Given the description of an element on the screen output the (x, y) to click on. 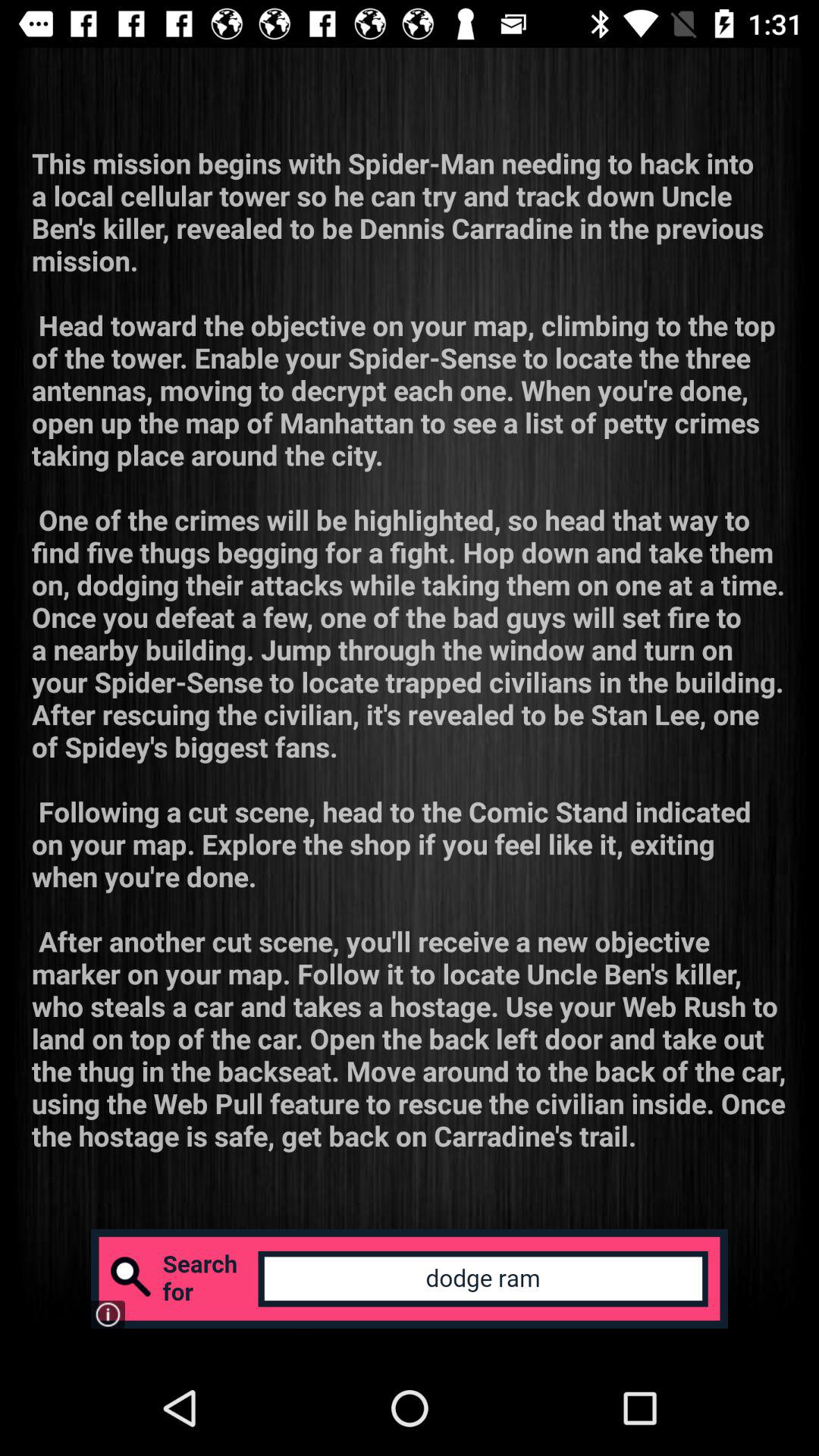
advertisement (409, 1278)
